Given the description of an element on the screen output the (x, y) to click on. 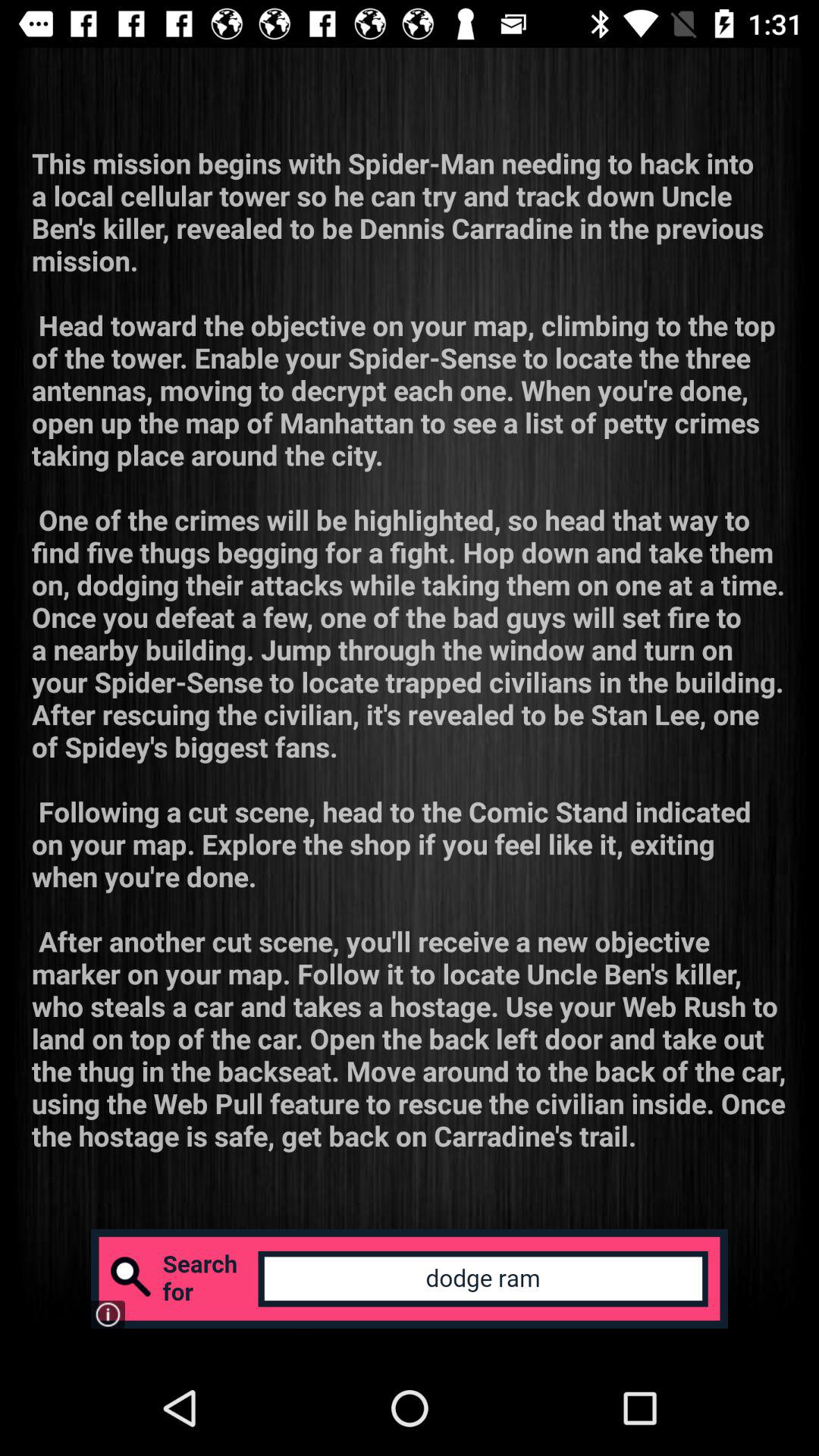
advertisement (409, 1278)
